Given the description of an element on the screen output the (x, y) to click on. 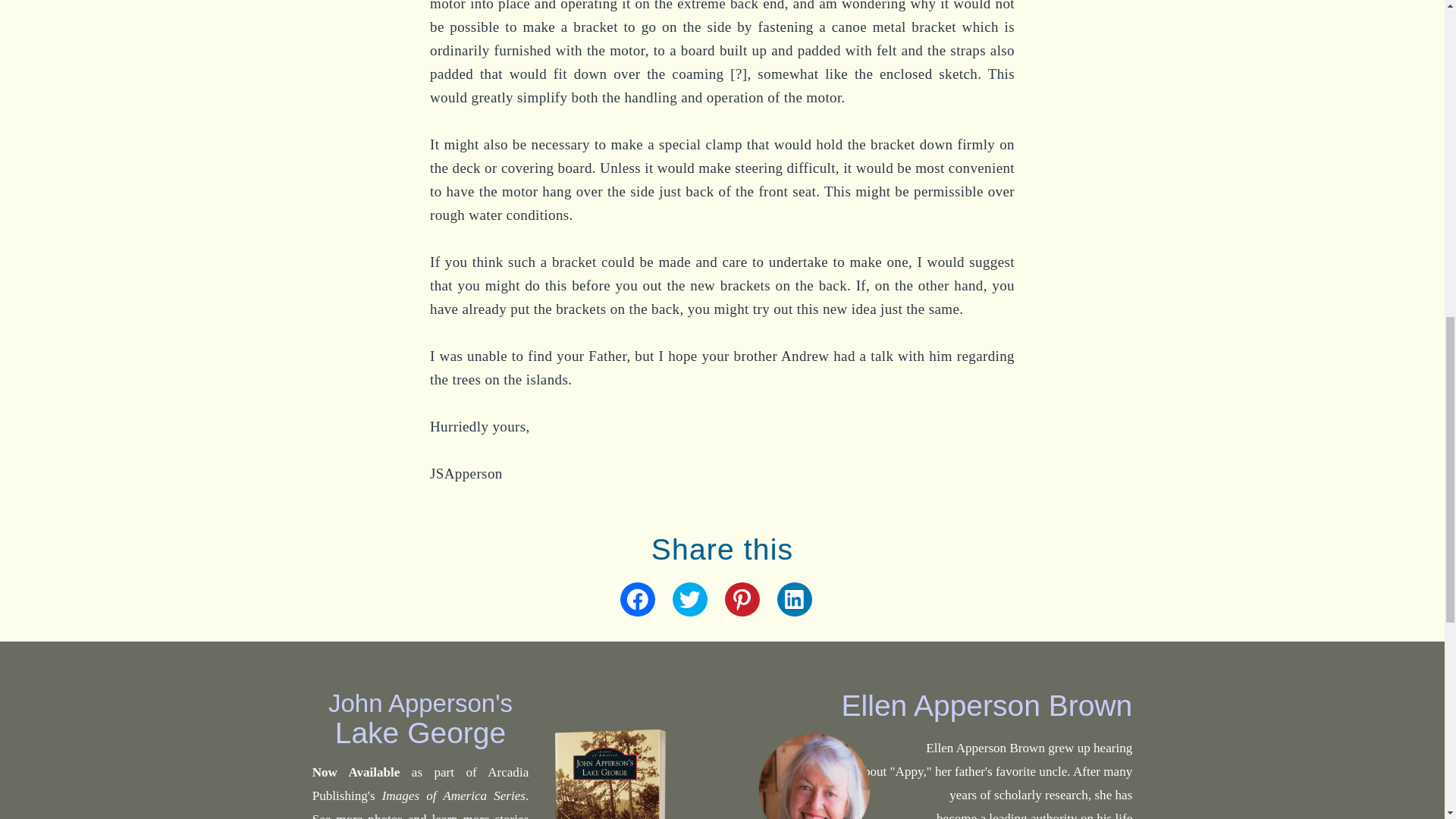
Click to share on Twitter (689, 599)
Click to share on LinkedIn (793, 599)
Click to share on Pinterest (741, 599)
Click to share on Facebook (636, 599)
